Given the description of an element on the screen output the (x, y) to click on. 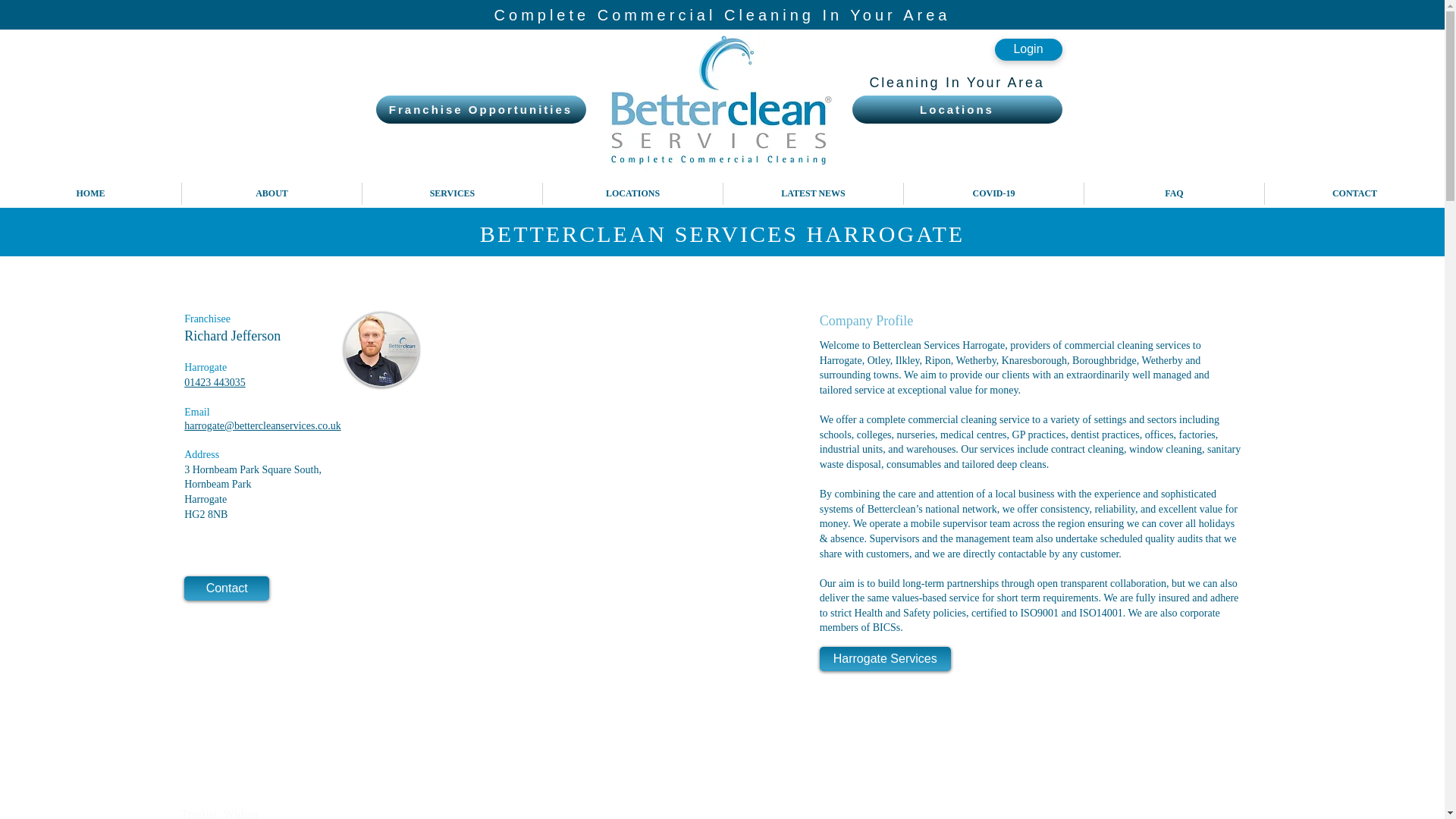
LATEST NEWS (812, 193)
HOME (90, 193)
LOCATIONS (631, 193)
Login (1028, 49)
FAQ (1173, 193)
Contact (226, 588)
01423 443035 (215, 382)
ABOUT (270, 193)
SERVICES (451, 193)
Franchise Opportunities (480, 109)
Harrogate Services (884, 658)
Locations (956, 109)
